Given the description of an element on the screen output the (x, y) to click on. 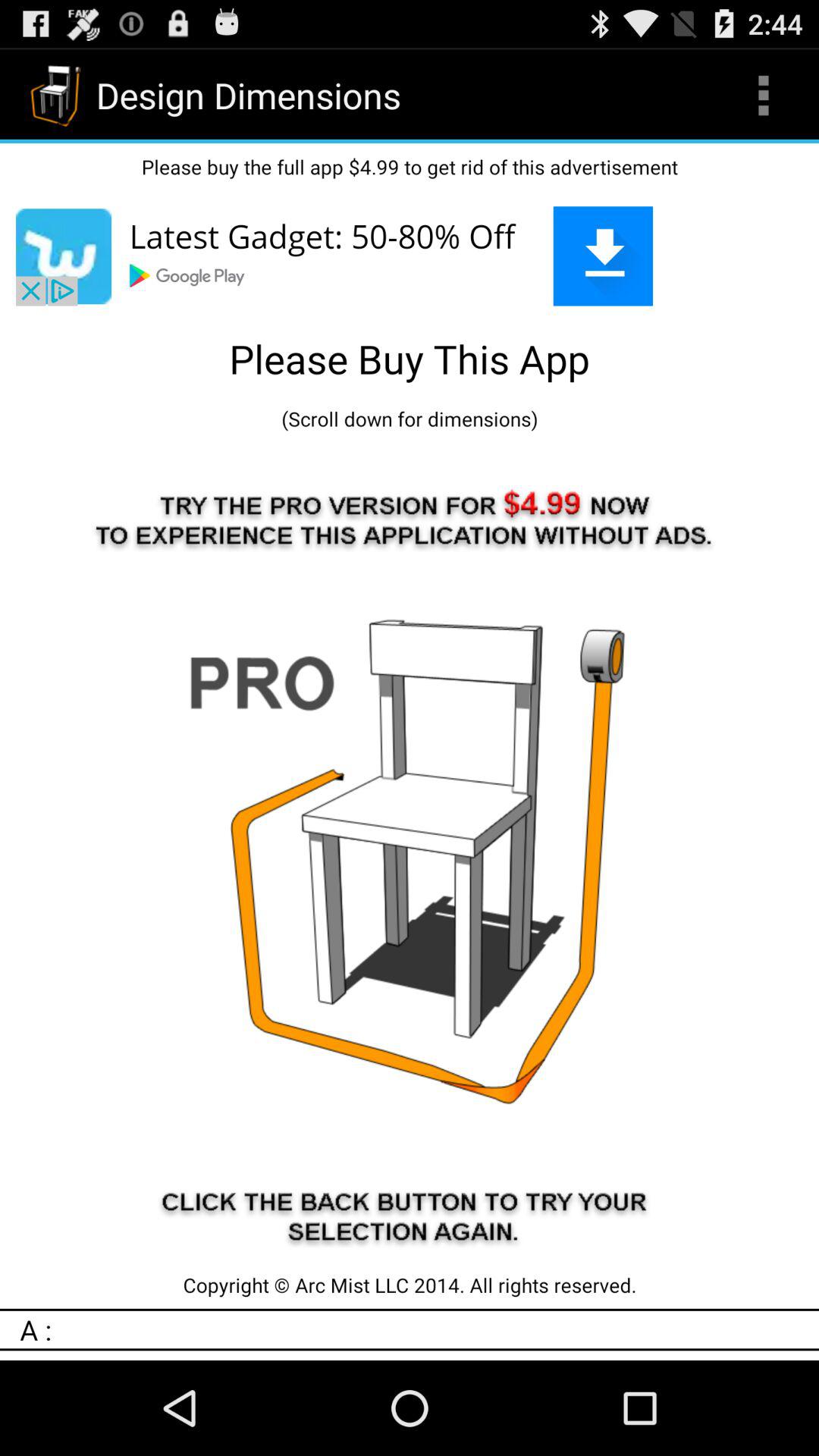
turn off the copyright arc mist icon (409, 1284)
